Given the description of an element on the screen output the (x, y) to click on. 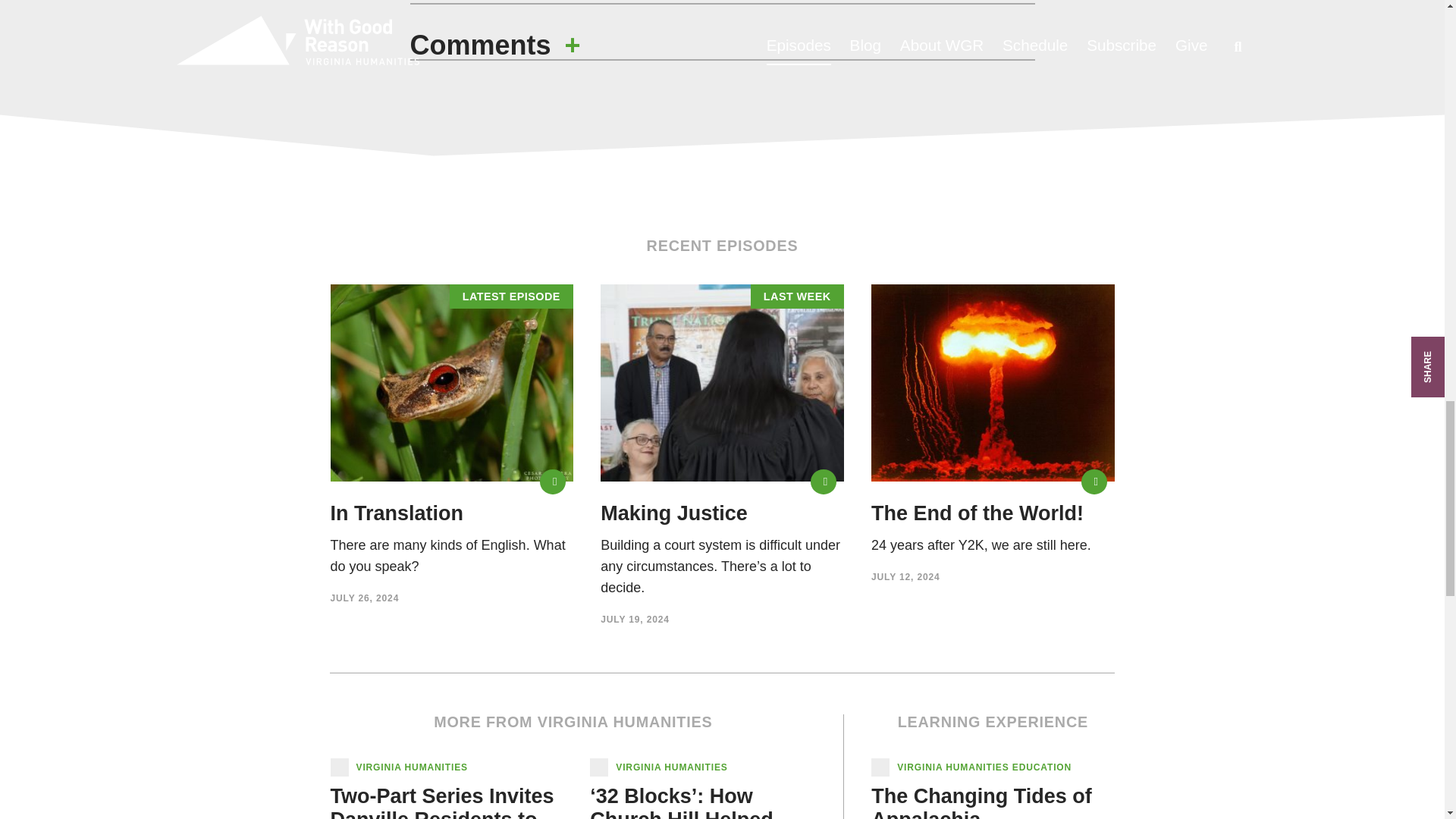
VIRGINIA HUMANITIES (411, 767)
The End of the World! (976, 513)
Making Justice (673, 513)
The End of the World! (1093, 482)
Making Justice (822, 482)
In Translation (397, 513)
In Translation (553, 482)
